Given the description of an element on the screen output the (x, y) to click on. 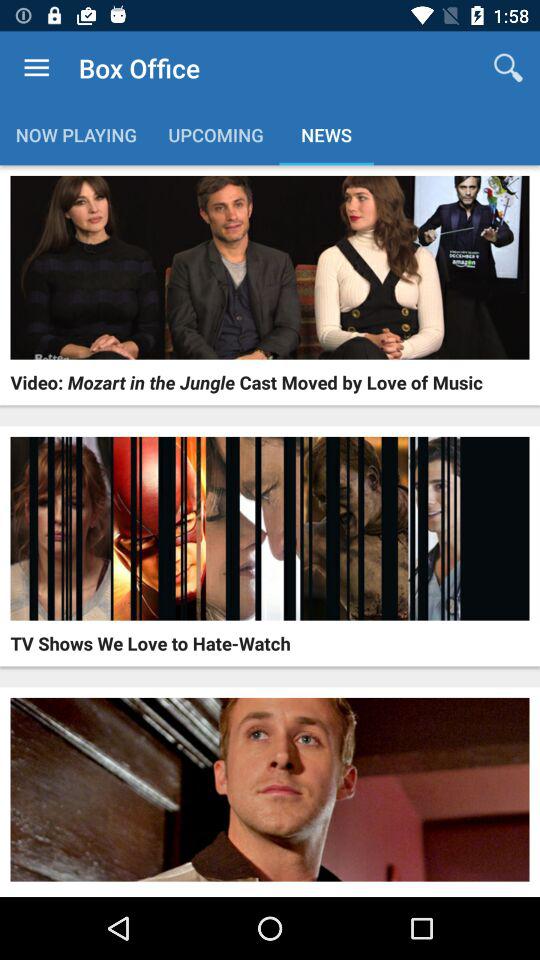
tap item to the left of the box office (36, 68)
